Given the description of an element on the screen output the (x, y) to click on. 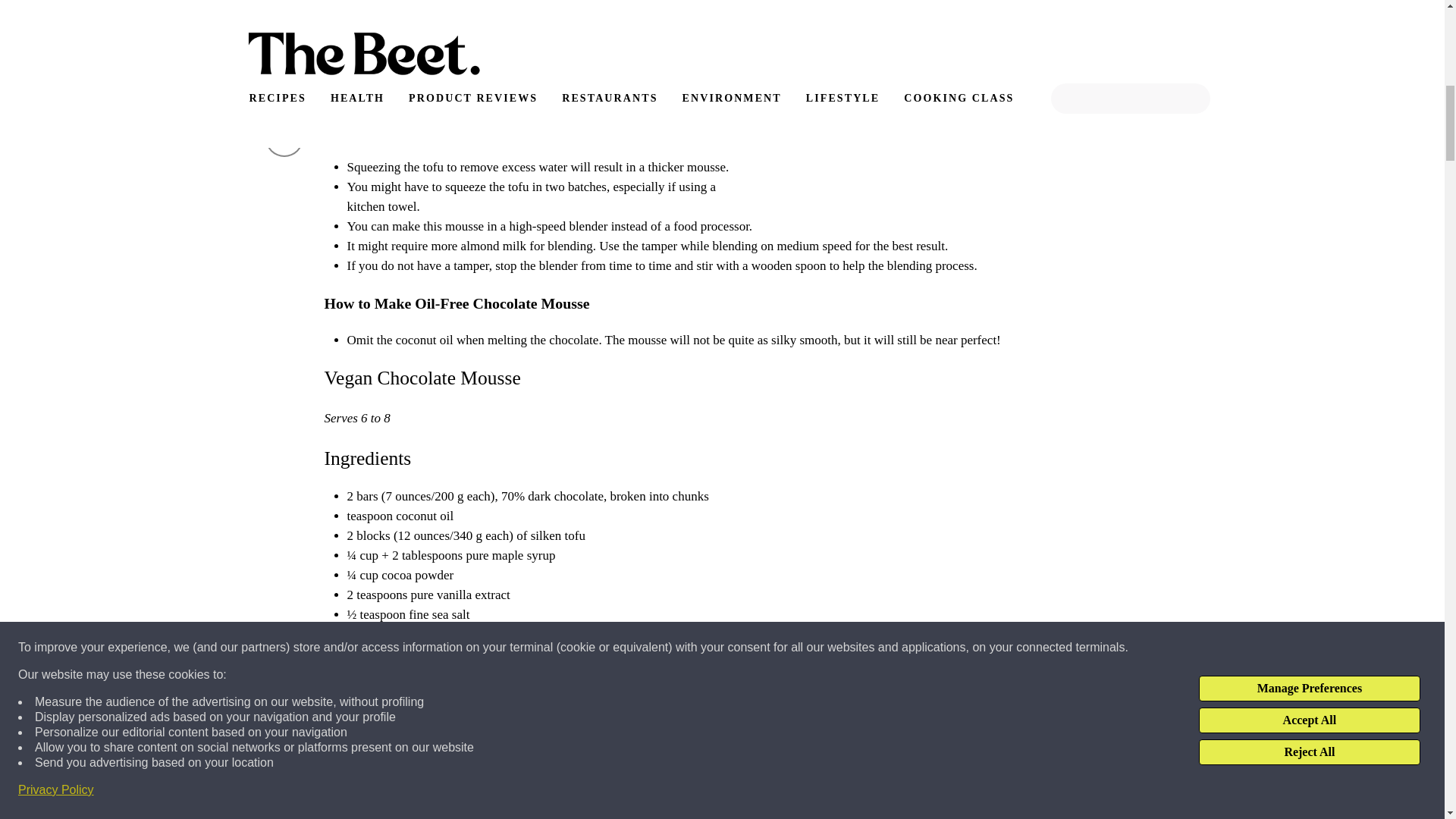
Print this page (283, 137)
Share on Twitter (283, 85)
Pin it! (283, 31)
